Given the description of an element on the screen output the (x, y) to click on. 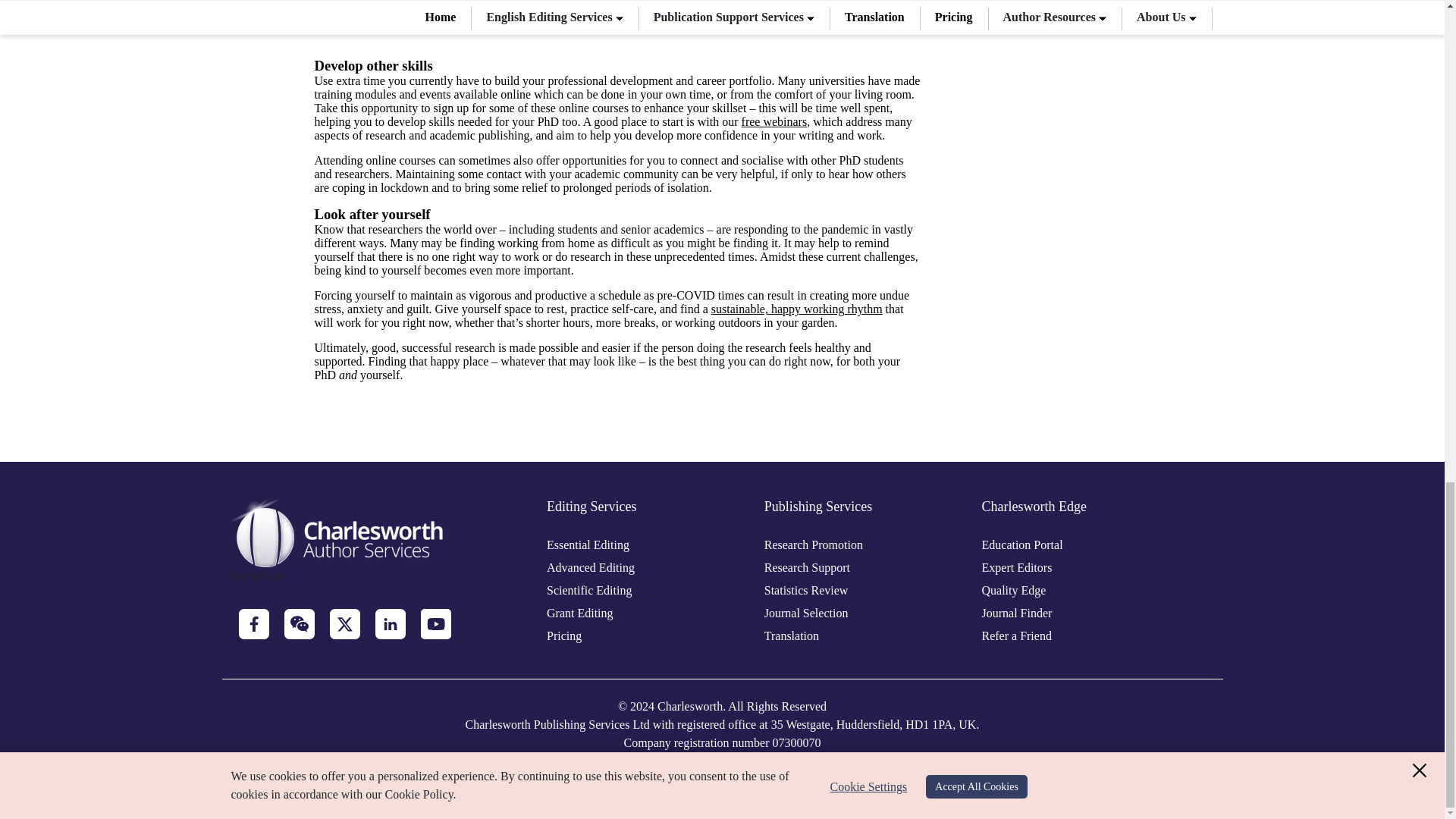
free webinars (774, 121)
Research Support (807, 567)
Pricing (563, 635)
Essential Editing (587, 544)
Journal Selection (806, 612)
Scientific Editing (589, 590)
sustainable, happy working rhythm (796, 308)
Research Promotion (813, 544)
Advanced Editing (590, 567)
Statistics Review (806, 590)
